Given the description of an element on the screen output the (x, y) to click on. 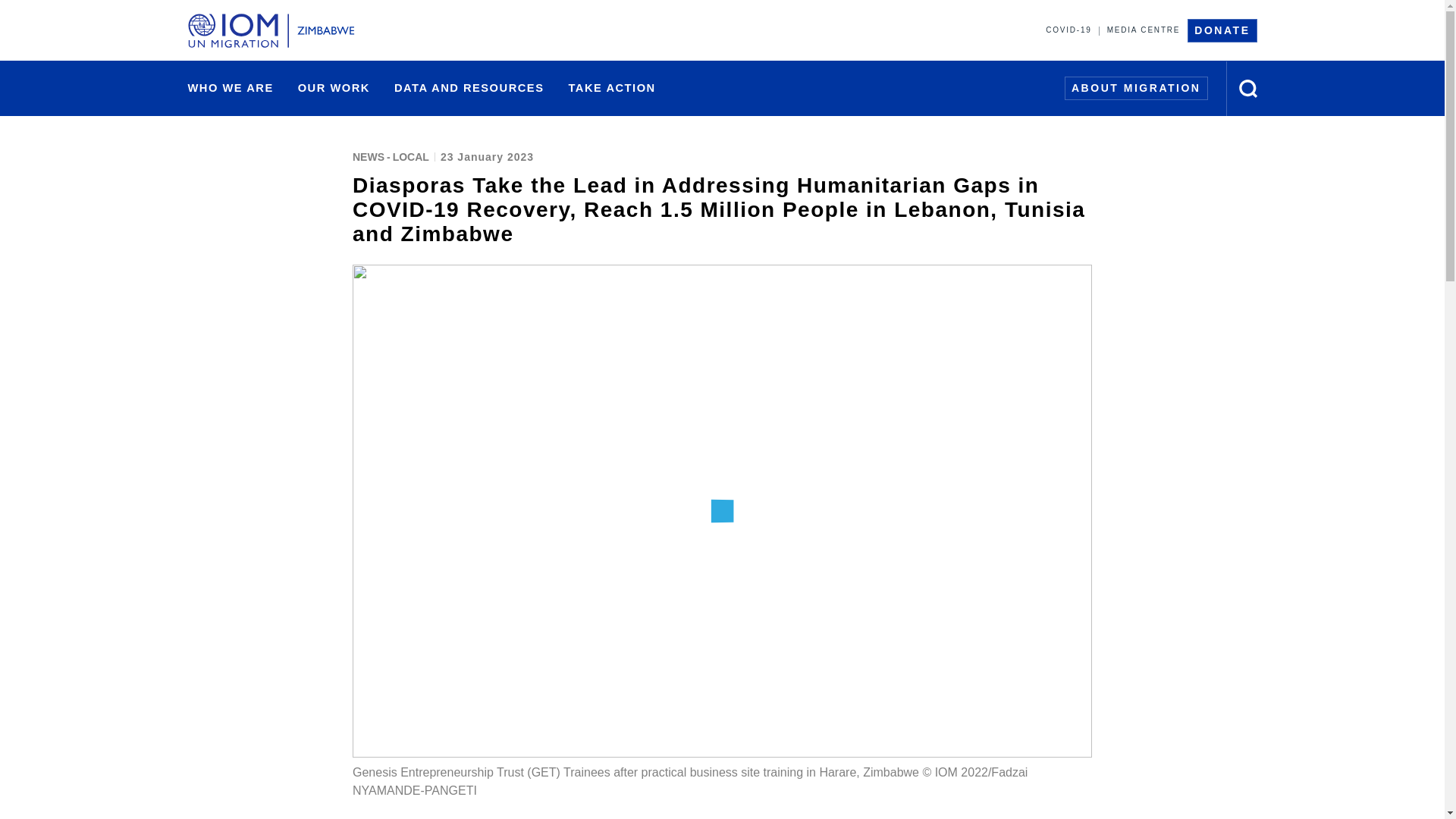
MEDIA CENTRE (1143, 30)
Click here to Search our website (1248, 87)
ABOUT MIGRATION (1136, 87)
DONATE (1222, 29)
OUR WORK (333, 88)
2030 AGENDA (684, 88)
Home (276, 30)
COVID-19 (1068, 30)
TAKE ACTION (611, 88)
DATA AND RESOURCES (468, 88)
